Given the description of an element on the screen output the (x, y) to click on. 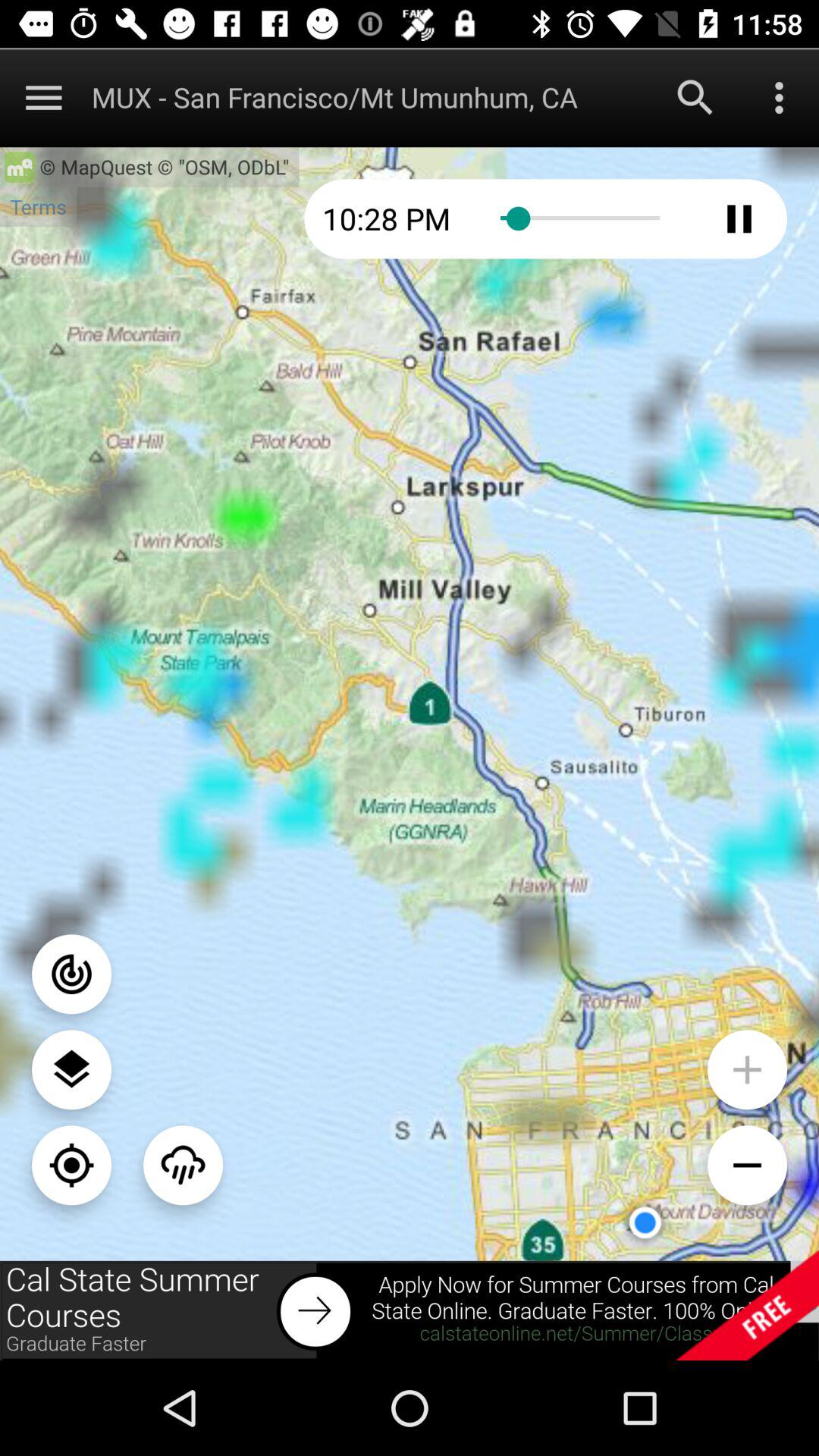
zoom in the location (747, 1069)
